Given the description of an element on the screen output the (x, y) to click on. 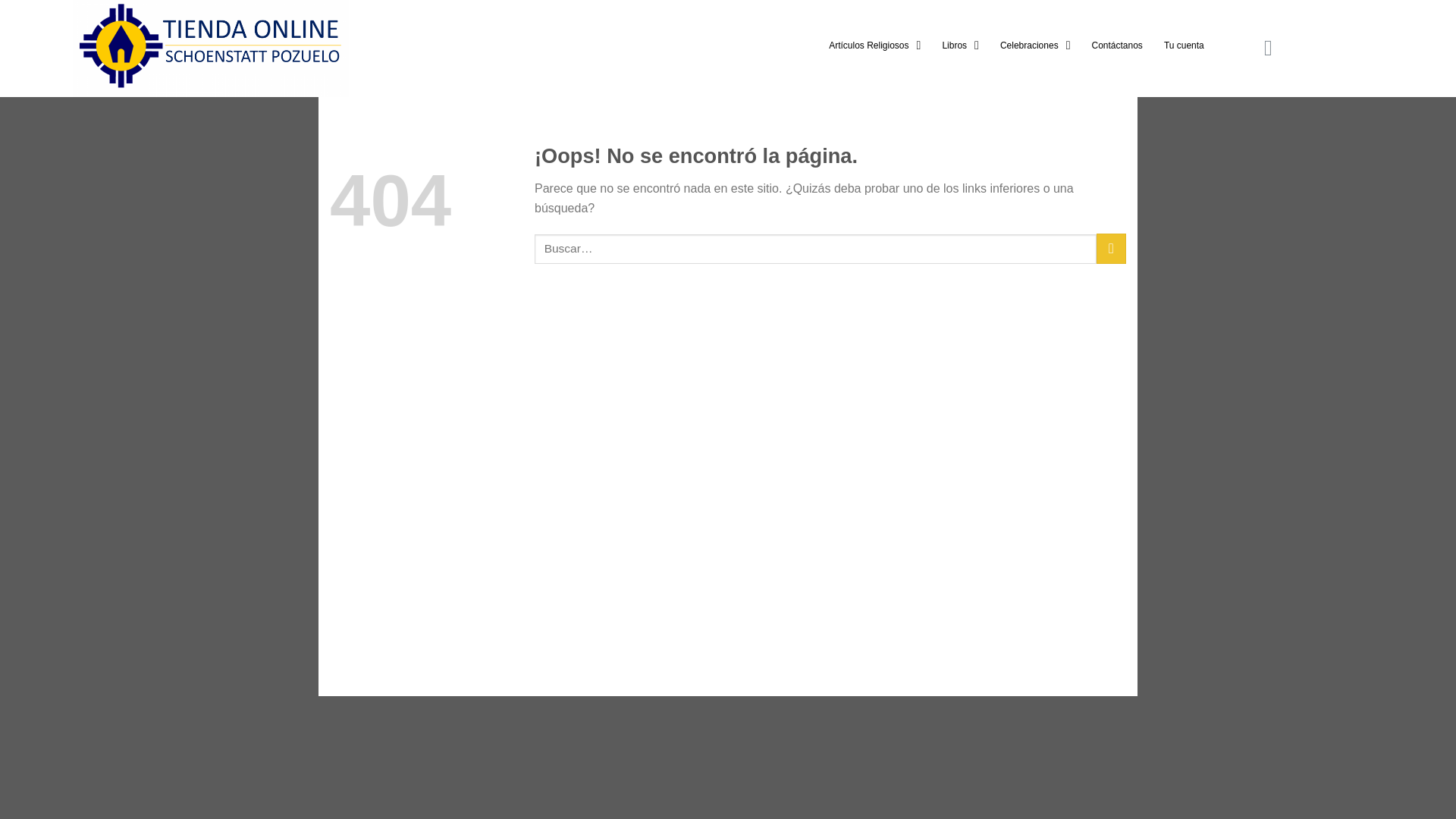
Celebraciones (1035, 45)
Libros (960, 45)
Tu cuenta (1183, 45)
